Given the description of an element on the screen output the (x, y) to click on. 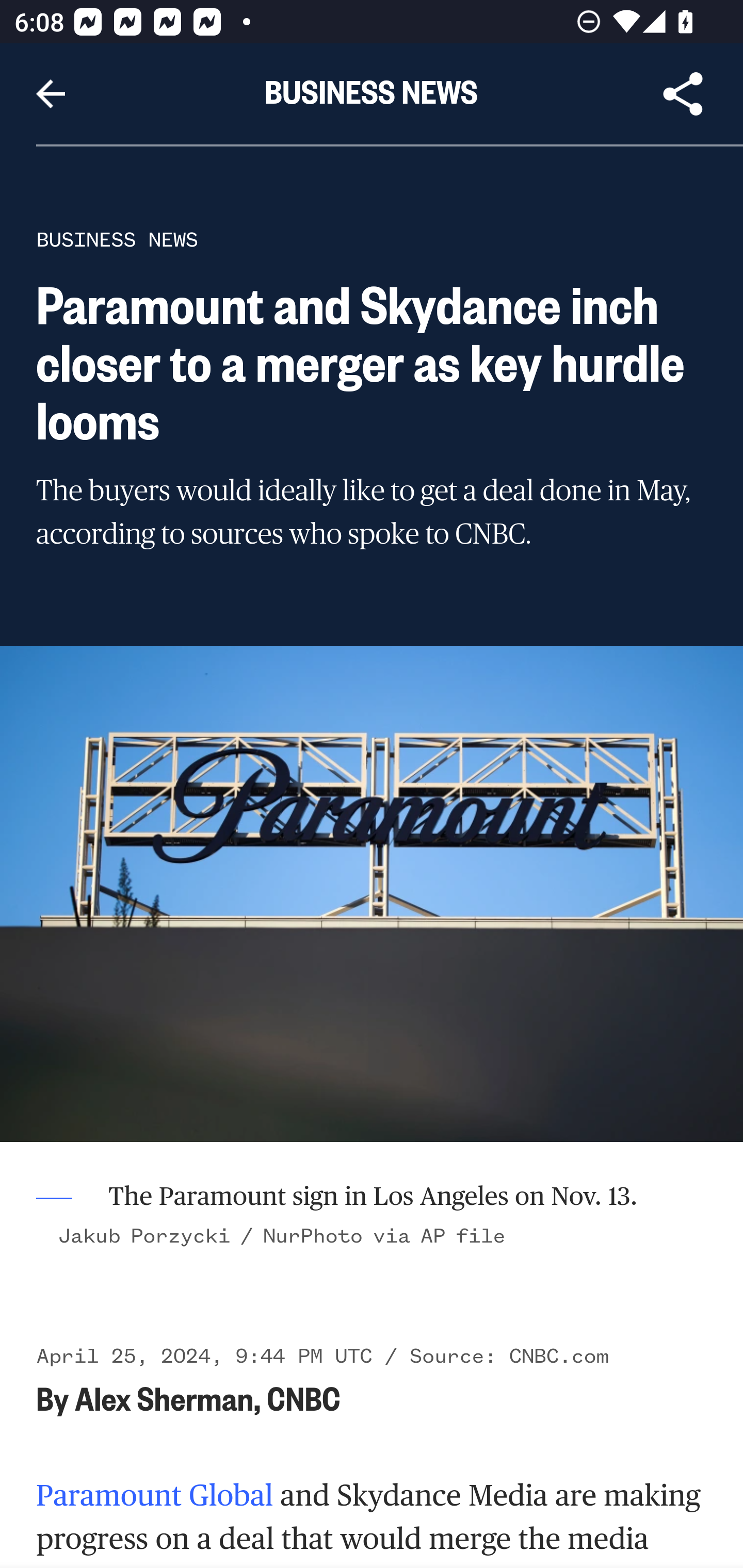
Navigate up (50, 93)
Share Article, button (683, 94)
